Given the description of an element on the screen output the (x, y) to click on. 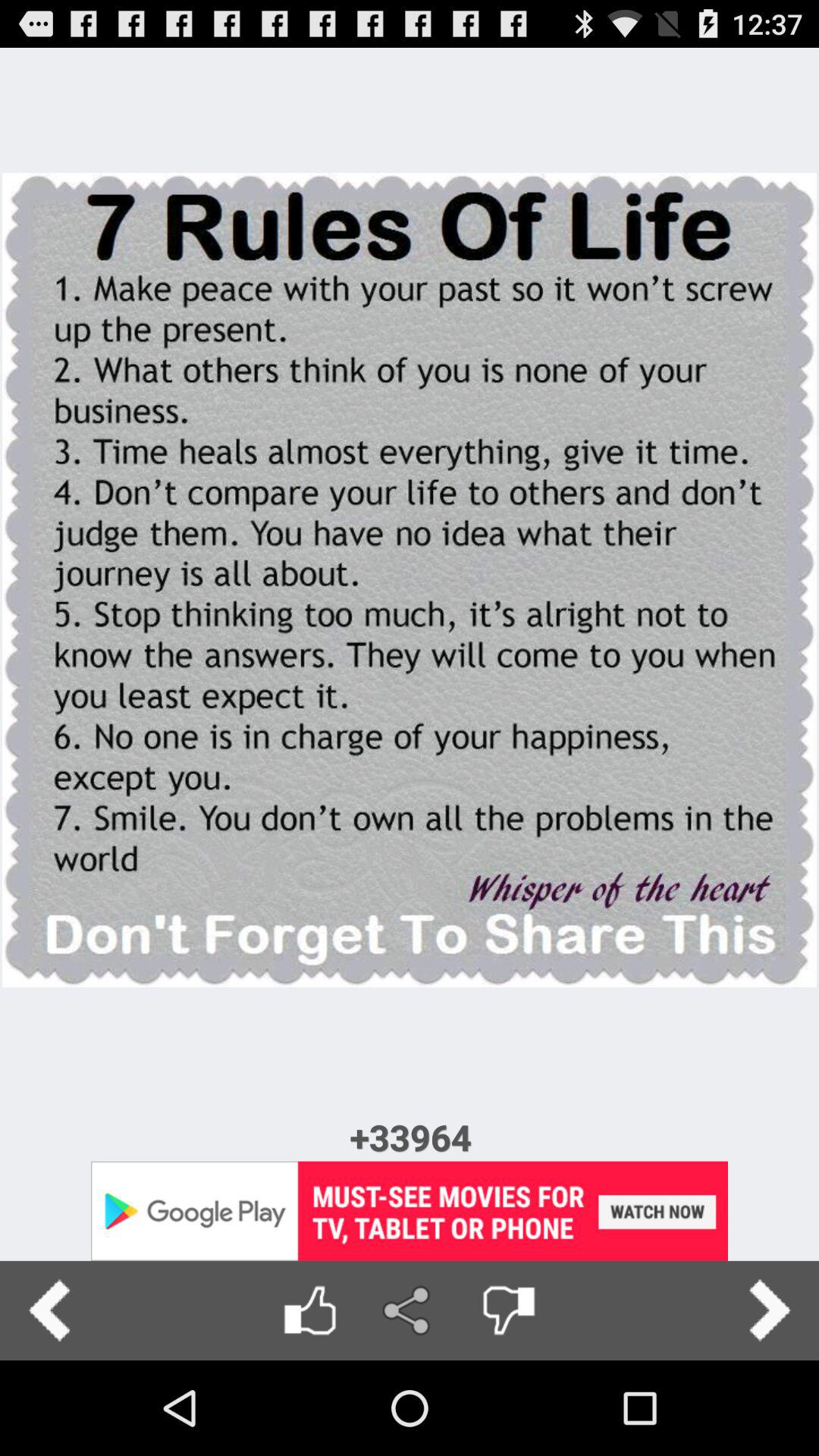
go to previous (49, 1310)
